Given the description of an element on the screen output the (x, y) to click on. 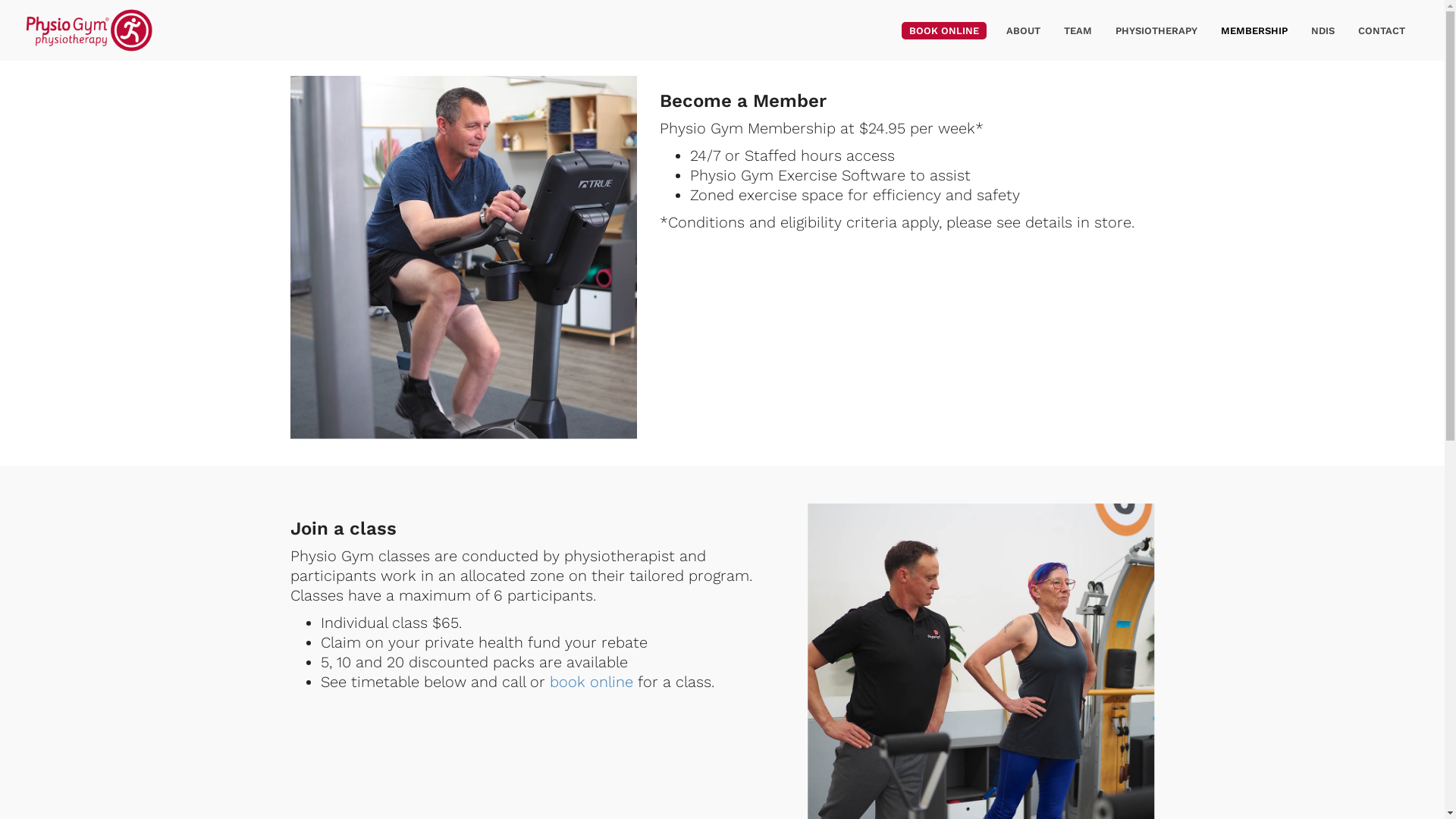
book online Element type: text (590, 681)
Physio & 24/7 Gym Element type: hover (89, 30)
ABOUT Element type: text (1023, 30)
CONTACT Element type: text (1381, 30)
BOOK ONLINE Element type: text (943, 30)
NDIS Element type: text (1322, 30)
TEAM Element type: text (1077, 30)
PHYSIOTHERAPY Element type: text (1156, 30)
MEMBERSHIP Element type: text (1254, 30)
